Given the description of an element on the screen output the (x, y) to click on. 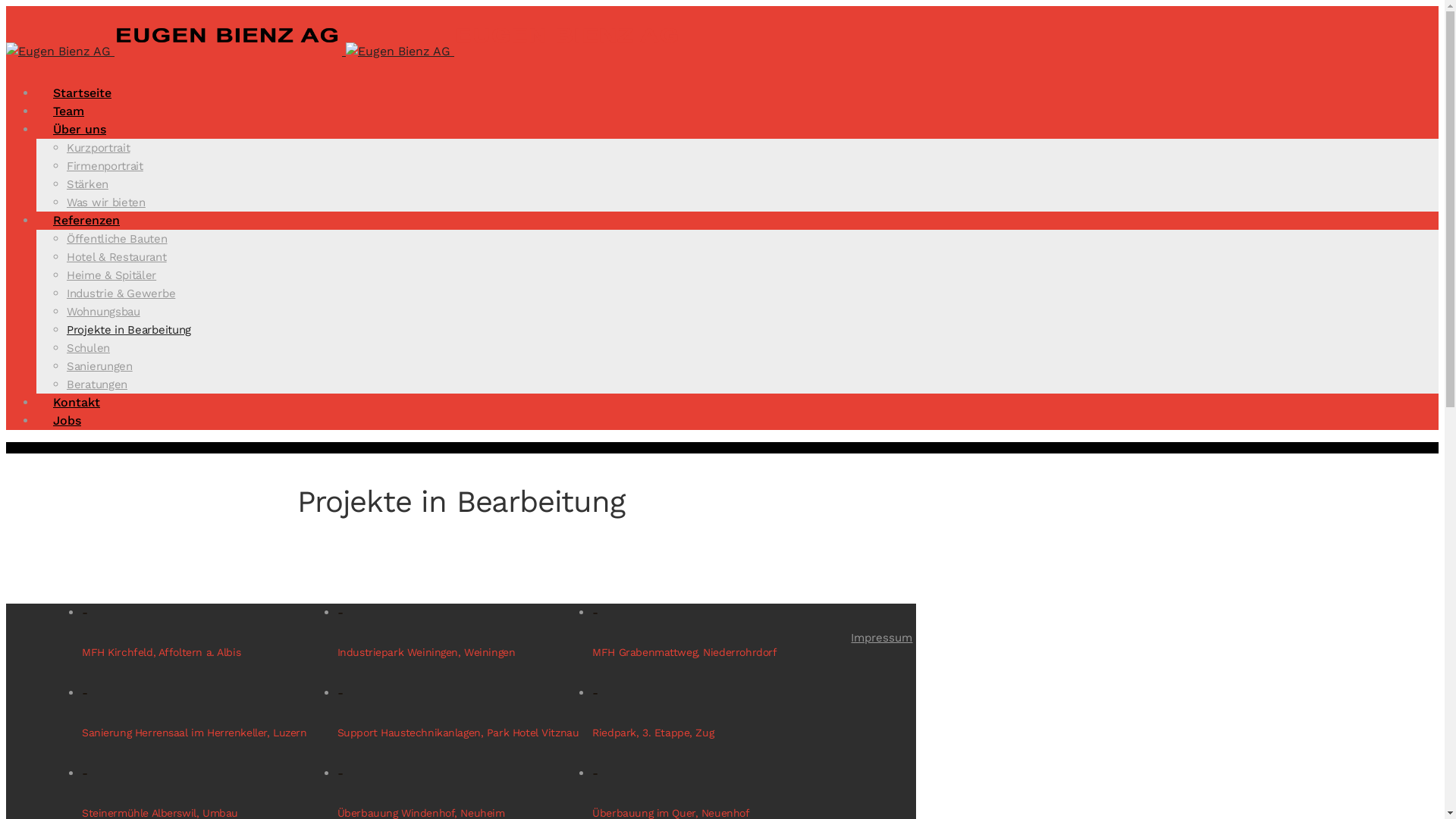
Was wir bieten Element type: text (105, 202)
Referenzen Element type: text (86, 220)
Projekte in Bearbeitung Element type: text (128, 329)
Startseite Element type: text (82, 92)
Wohnungsbau Element type: text (103, 311)
Firmenportrait Element type: text (104, 165)
Schulen Element type: text (87, 347)
Team Element type: text (68, 110)
Hotel & Restaurant Element type: text (116, 256)
Kontakt Element type: text (76, 402)
Kurzportrait Element type: text (97, 147)
Beratungen Element type: text (96, 384)
Impressum Element type: text (881, 637)
Industrie & Gewerbe Element type: text (120, 293)
Sanierungen Element type: text (99, 366)
Jobs Element type: text (66, 420)
